Given the description of an element on the screen output the (x, y) to click on. 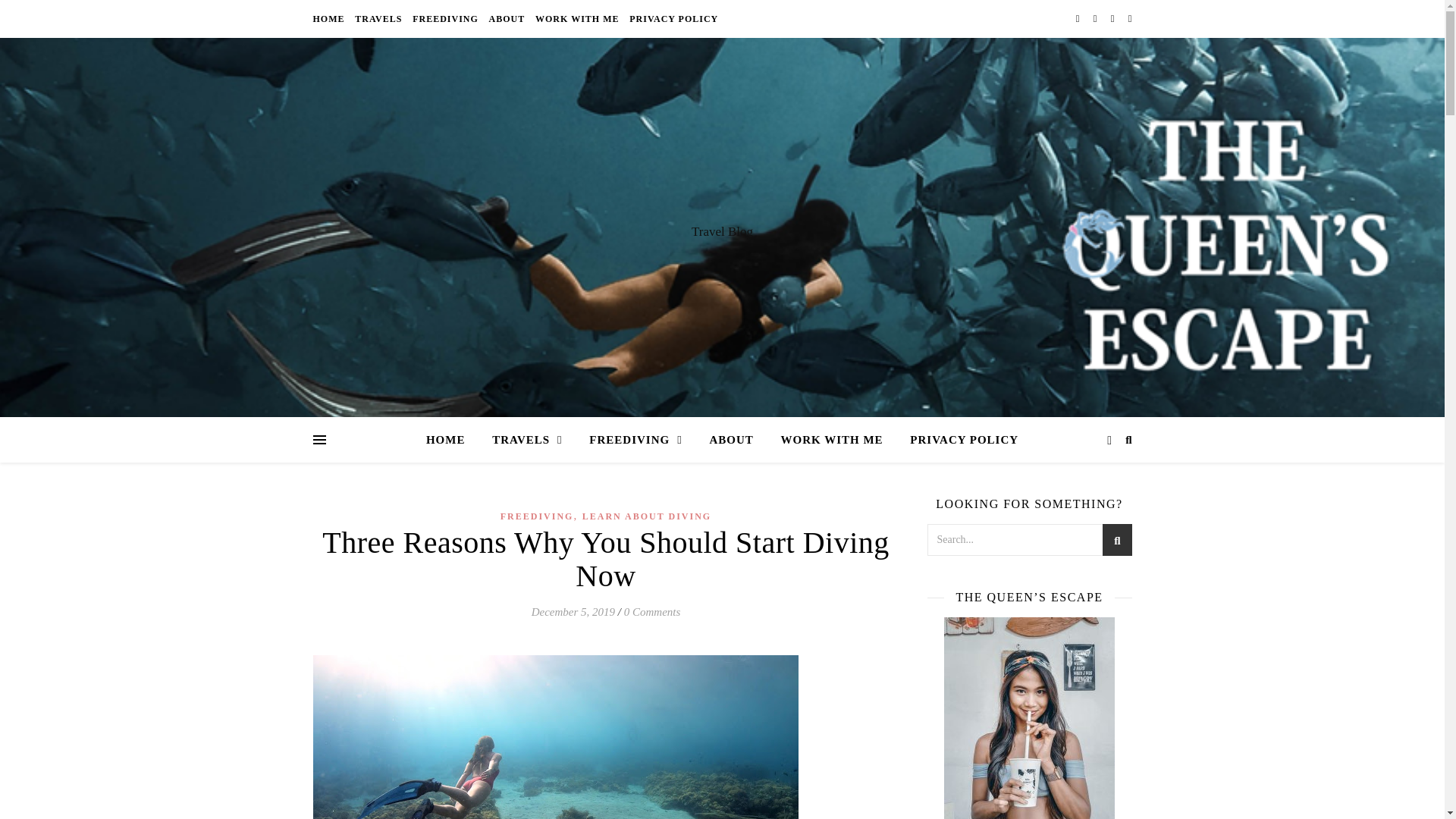
PRIVACY POLICY (957, 439)
TRAVELS (378, 18)
HOME (330, 18)
TRAVELS (526, 439)
FREEDIVING (635, 439)
ABOUT (731, 439)
WORK WITH ME (831, 439)
WORK WITH ME (577, 18)
PRIVACY POLICY (671, 18)
ABOUT (506, 18)
